Given the description of an element on the screen output the (x, y) to click on. 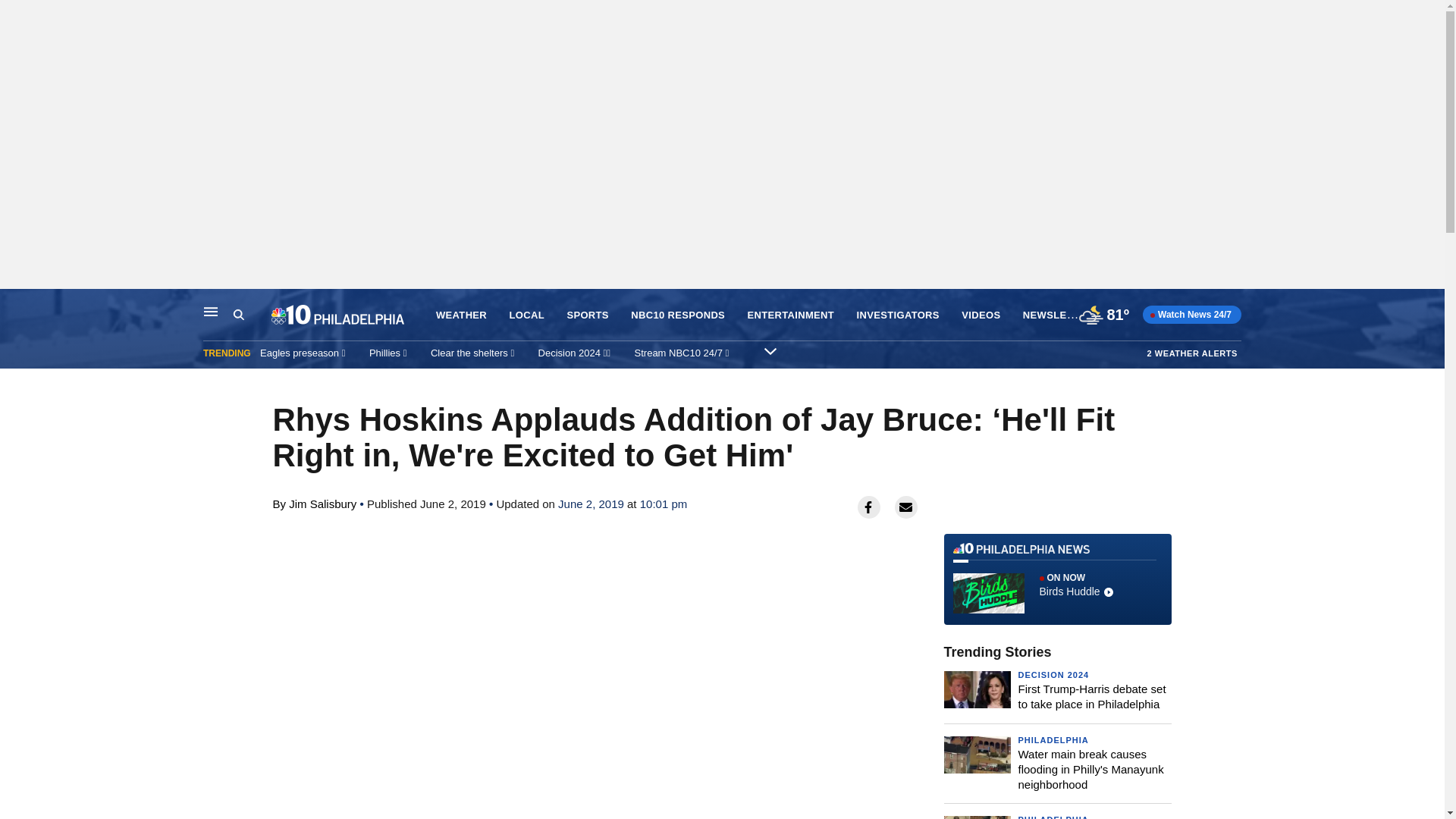
NBC10 RESPONDS (677, 315)
INVESTIGATORS (898, 315)
SPORTS (587, 315)
WEATHER (460, 315)
VIDEOS (980, 315)
LOCAL (526, 315)
Main Navigation (210, 311)
ENTERTAINMENT (791, 315)
Expand (770, 350)
